Given the description of an element on the screen output the (x, y) to click on. 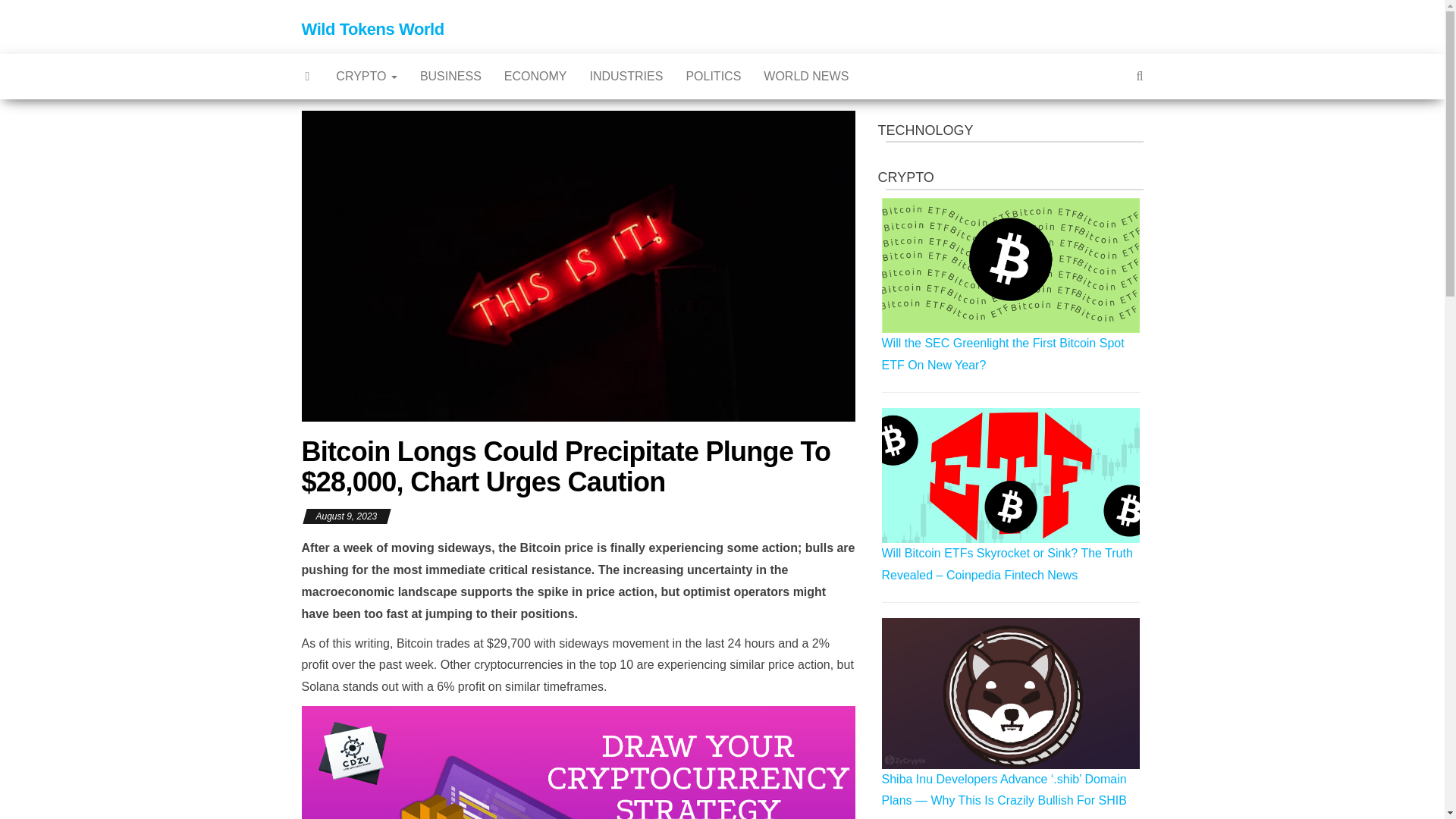
Industries (626, 76)
Crypto (366, 76)
CRYPTO (366, 76)
INDUSTRIES (626, 76)
Business (451, 76)
Economy (535, 76)
World News (806, 76)
Politics (713, 76)
